Given the description of an element on the screen output the (x, y) to click on. 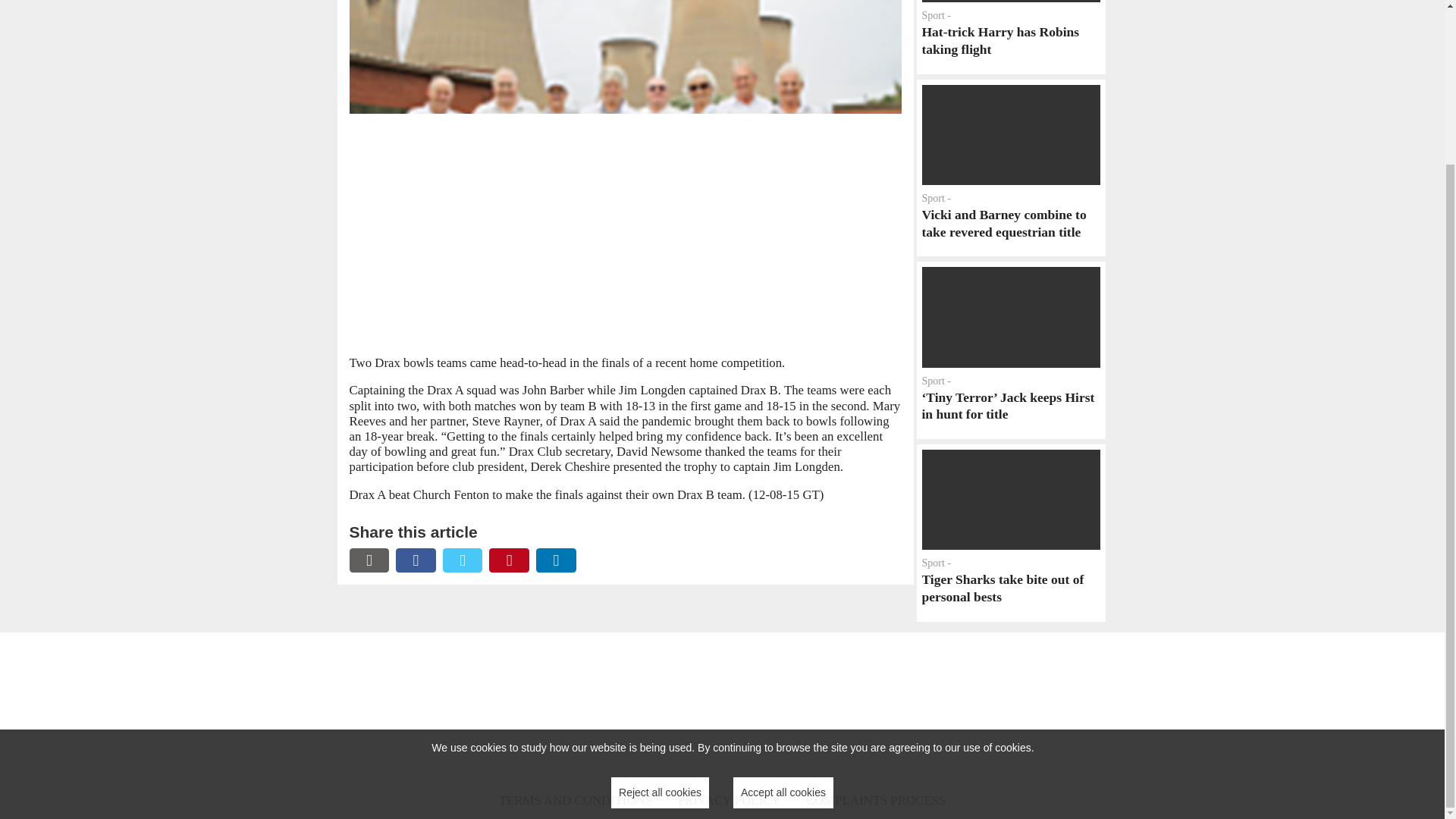
TERMS AND CONDITIONS (575, 800)
Accept all cookies (1010, 37)
Reject all cookies (782, 597)
PRIVACY POLICY (1010, 532)
COMPLAINTS PROCESS (660, 597)
